Given the description of an element on the screen output the (x, y) to click on. 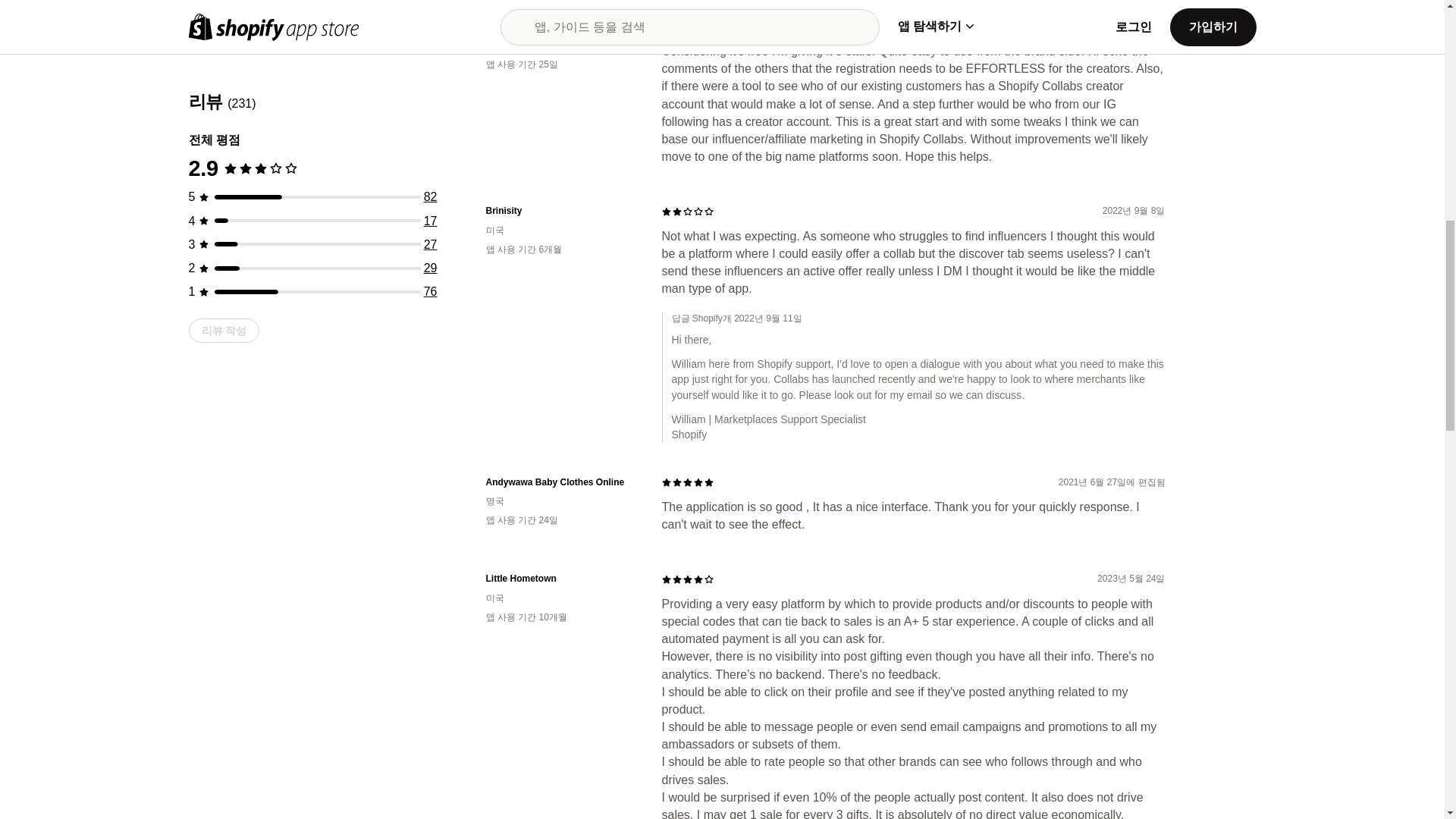
Andywawa Baby Clothes Online (560, 481)
Little Hometown (560, 578)
Brinisity (560, 210)
